Given the description of an element on the screen output the (x, y) to click on. 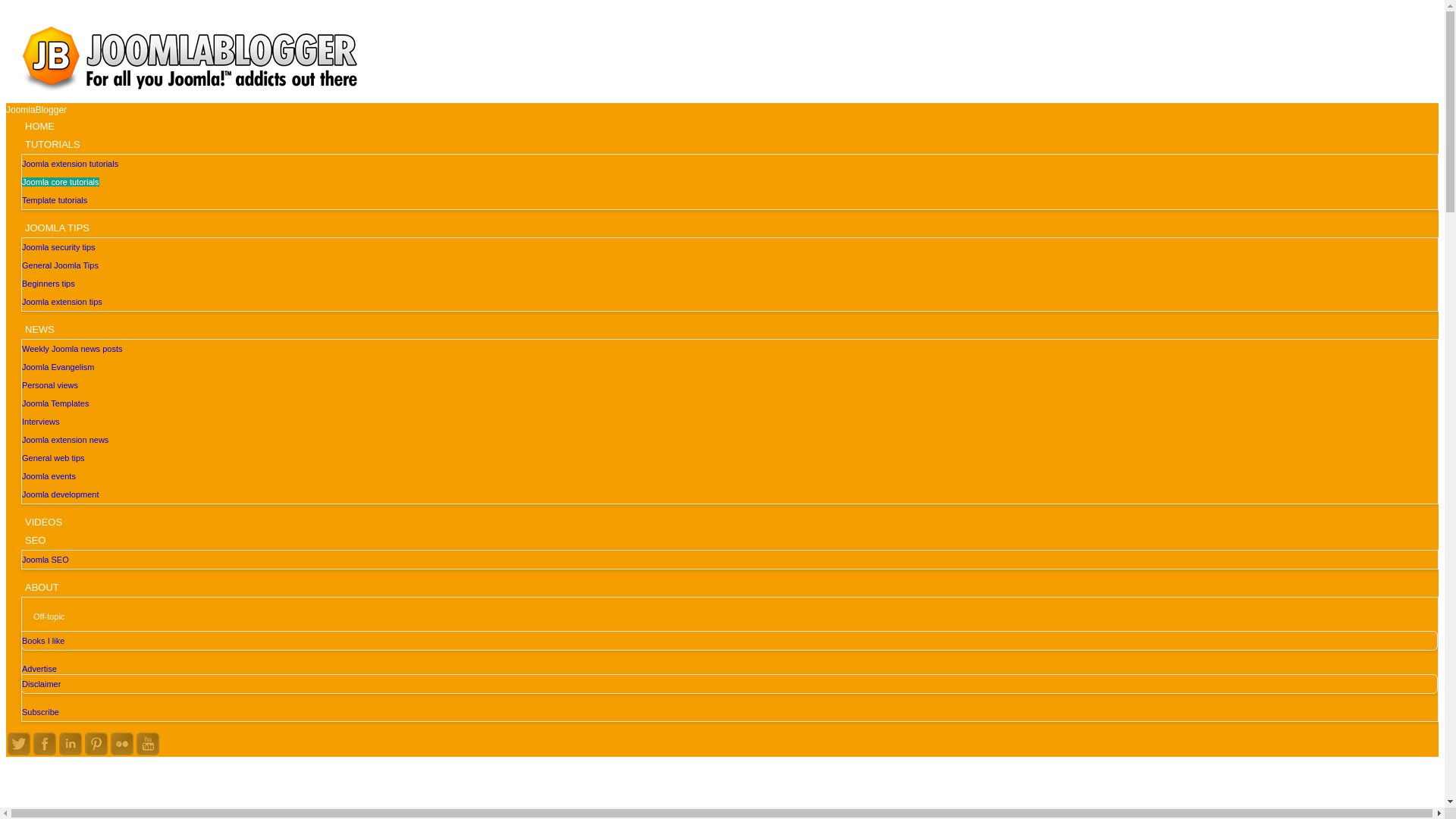
Joomla SEO (44, 559)
Joomla core tutorials (60, 181)
Interviews (40, 420)
Disclaimer (41, 683)
Joomla Evangelism (57, 366)
Advertisement (721, 797)
TUTORIALS (52, 142)
Weekly Joomla news posts (71, 347)
Advertise (41, 668)
General web tips (52, 457)
SEO (34, 538)
Beginners tips (48, 283)
Template tutorials (54, 199)
Books I like (42, 640)
Joomla extension news (64, 439)
